Given the description of an element on the screen output the (x, y) to click on. 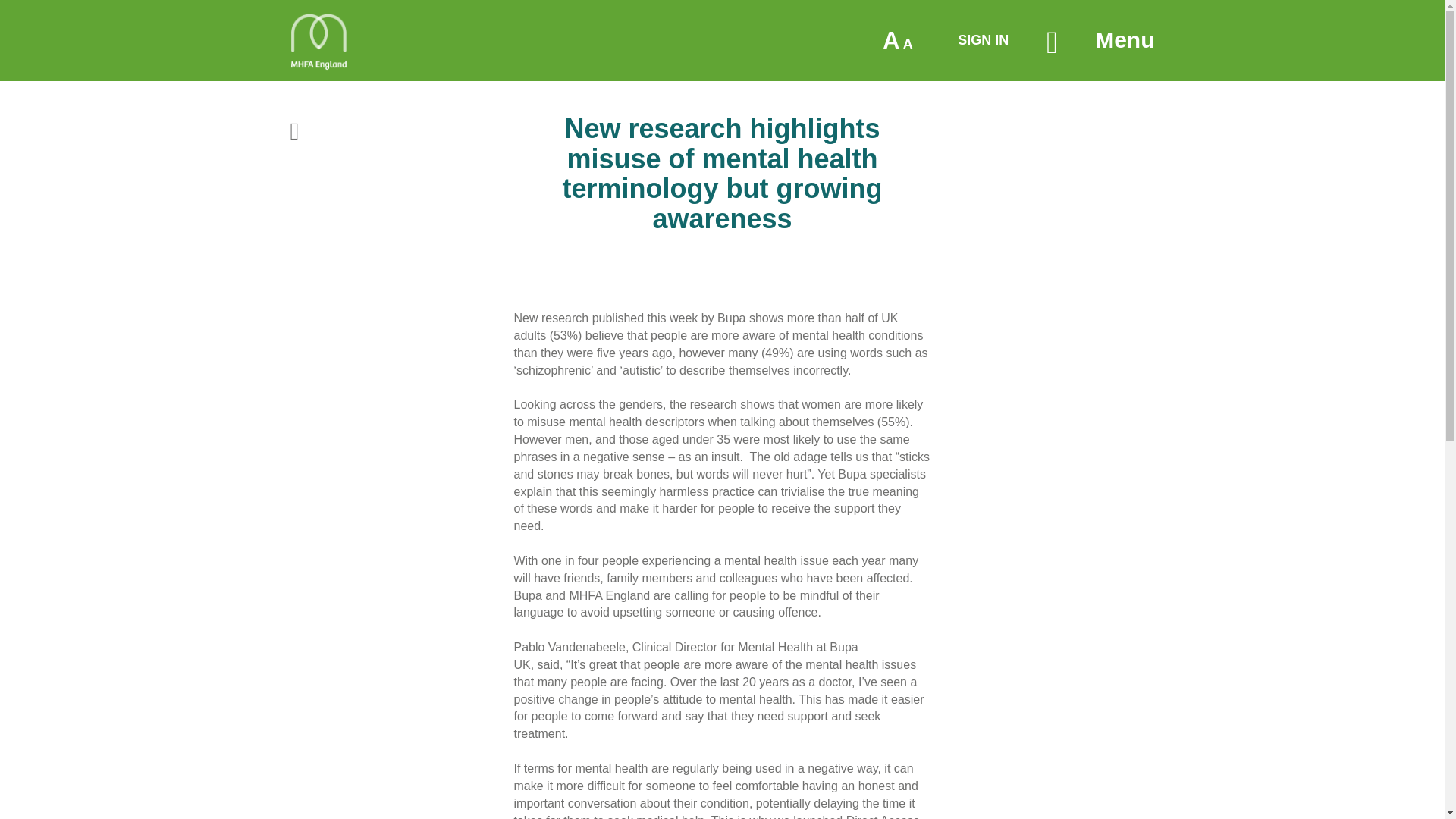
A A (896, 40)
SIGN IN (1124, 40)
MHFA England Home (983, 39)
Sign in (317, 41)
